Given the description of an element on the screen output the (x, y) to click on. 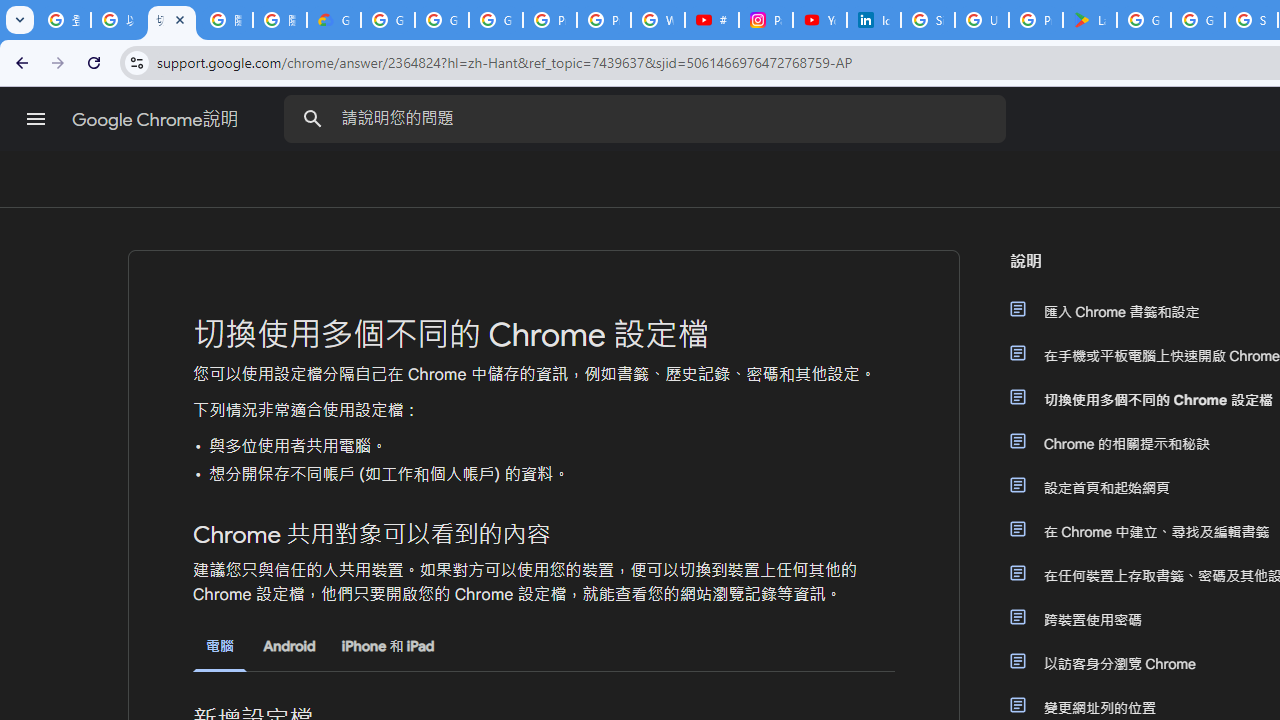
Sign in - Google Accounts (927, 20)
Last Shelter: Survival - Apps on Google Play (1089, 20)
